Given the description of an element on the screen output the (x, y) to click on. 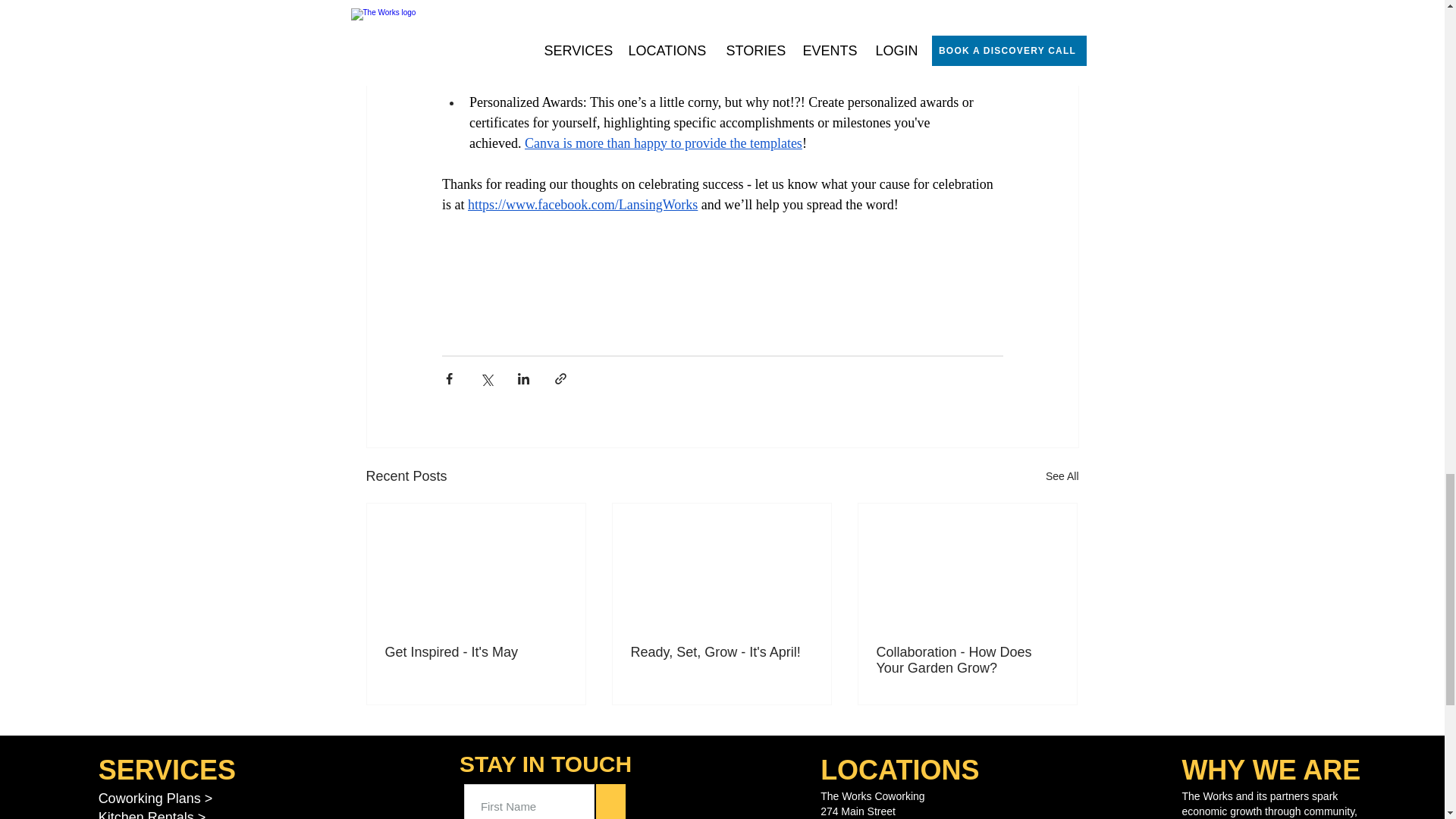
Canva is more than happy to provide the templates (663, 142)
Collaboration - How Does Your Garden Grow? (967, 660)
Get Inspired - It's May (476, 652)
Ready, Set, Grow - It's April! (721, 652)
See All (1061, 476)
